Given the description of an element on the screen output the (x, y) to click on. 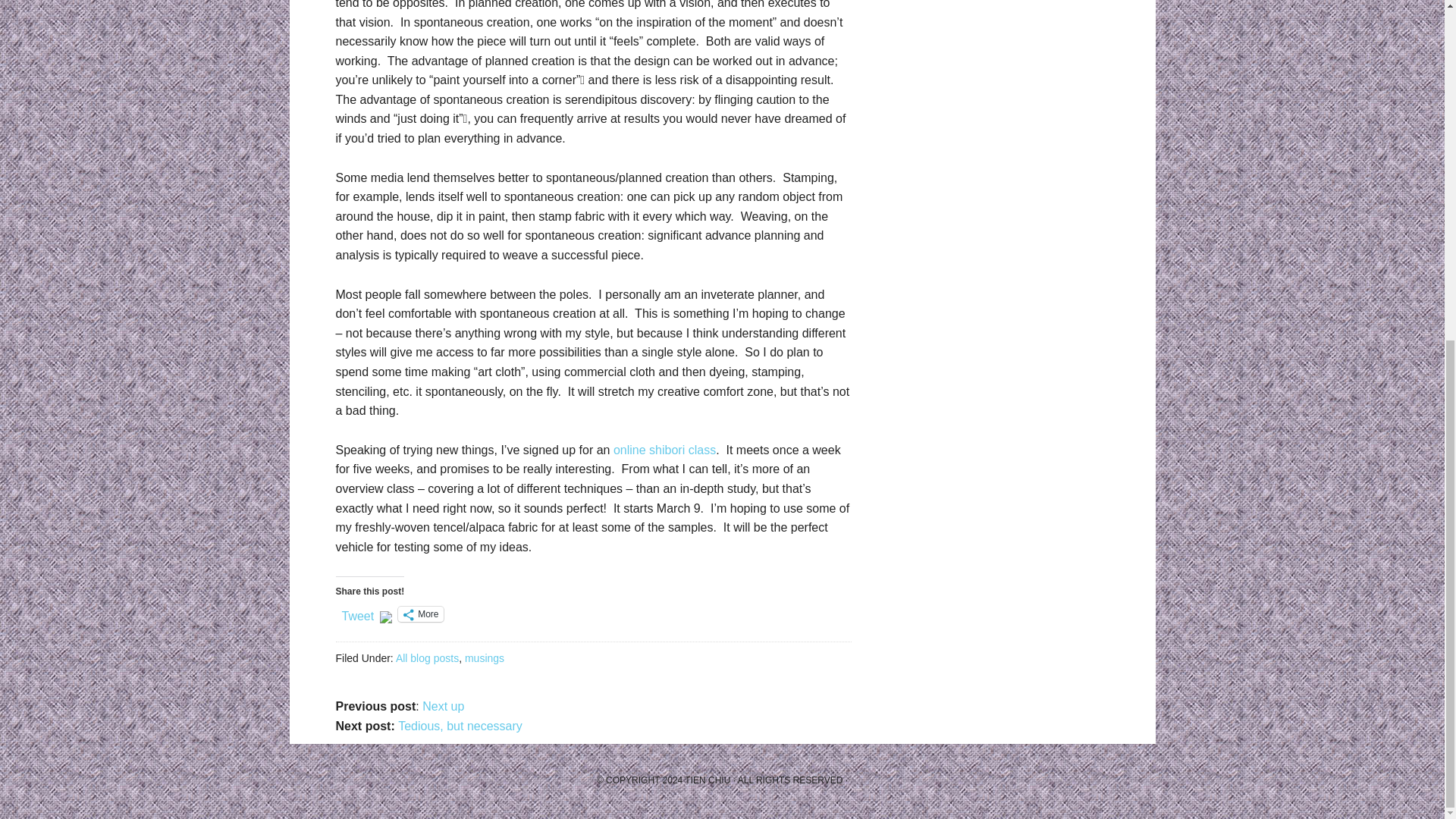
Next up (443, 706)
More (419, 613)
online shibori class (664, 449)
Tweet (357, 612)
Tedious, but necessary (459, 725)
musings (483, 657)
TIEN CHIU (707, 779)
All blog posts (427, 657)
